Given the description of an element on the screen output the (x, y) to click on. 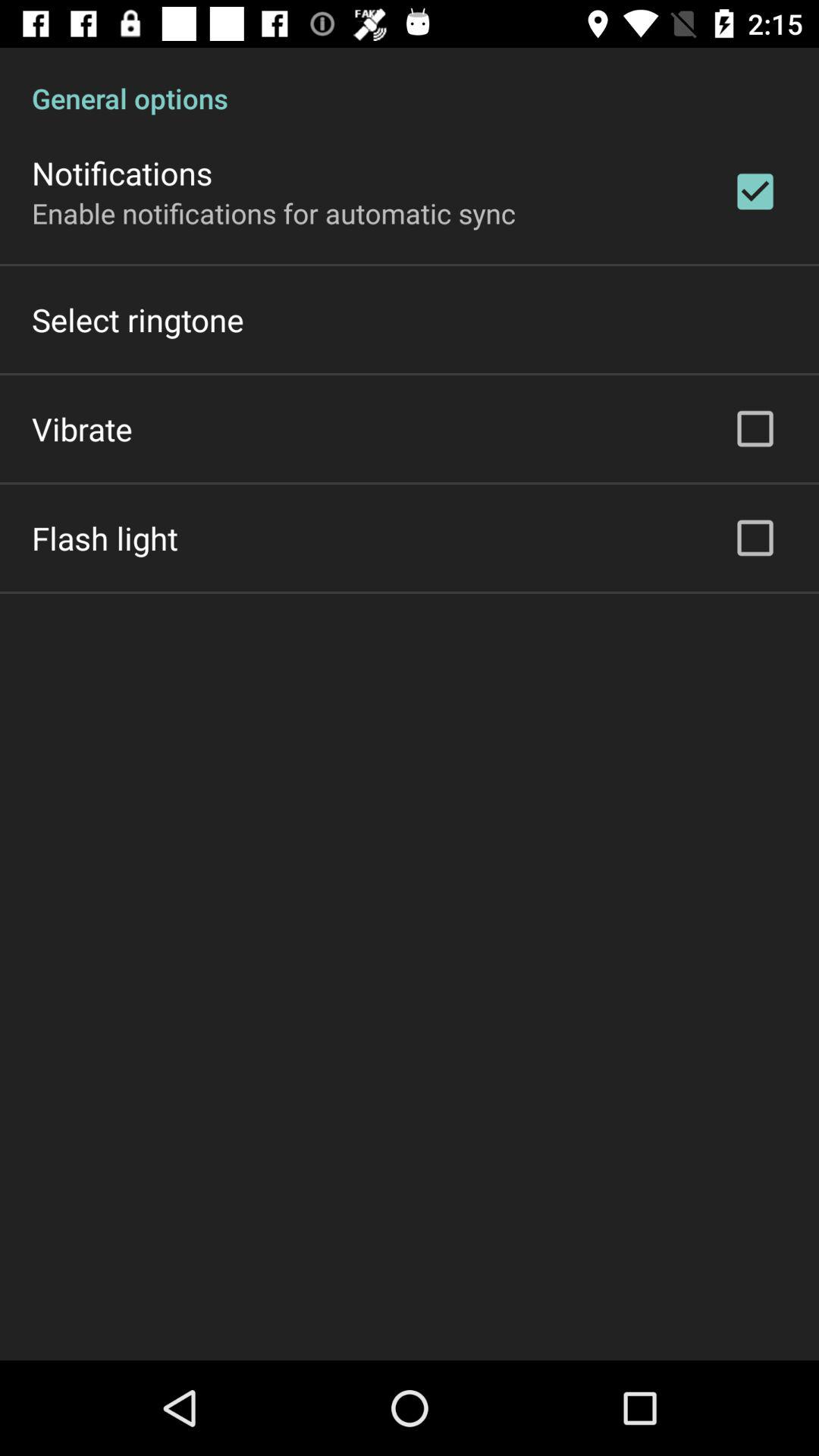
open general options icon (409, 82)
